Given the description of an element on the screen output the (x, y) to click on. 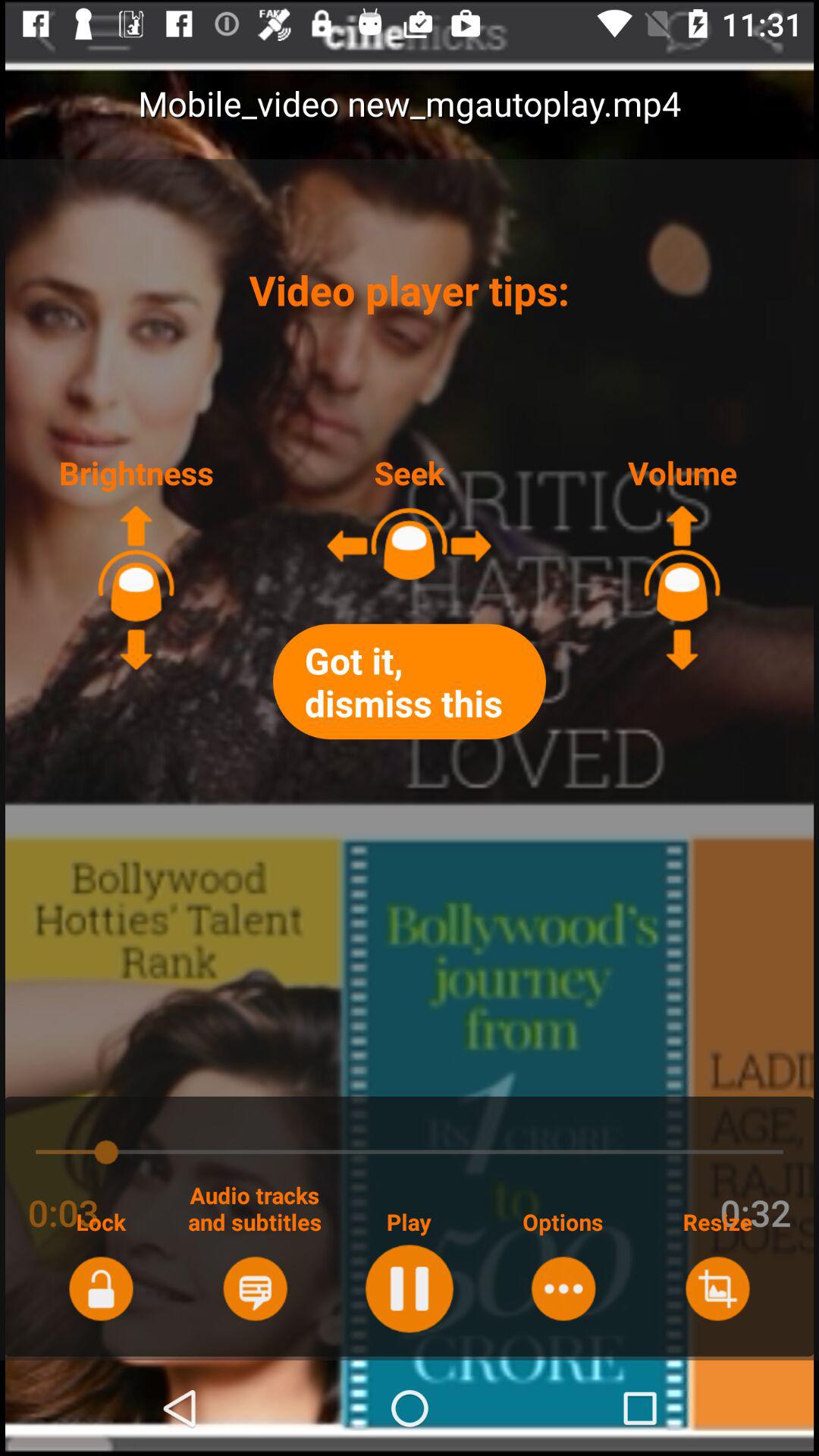
select pause option (409, 1288)
